Given the description of an element on the screen output the (x, y) to click on. 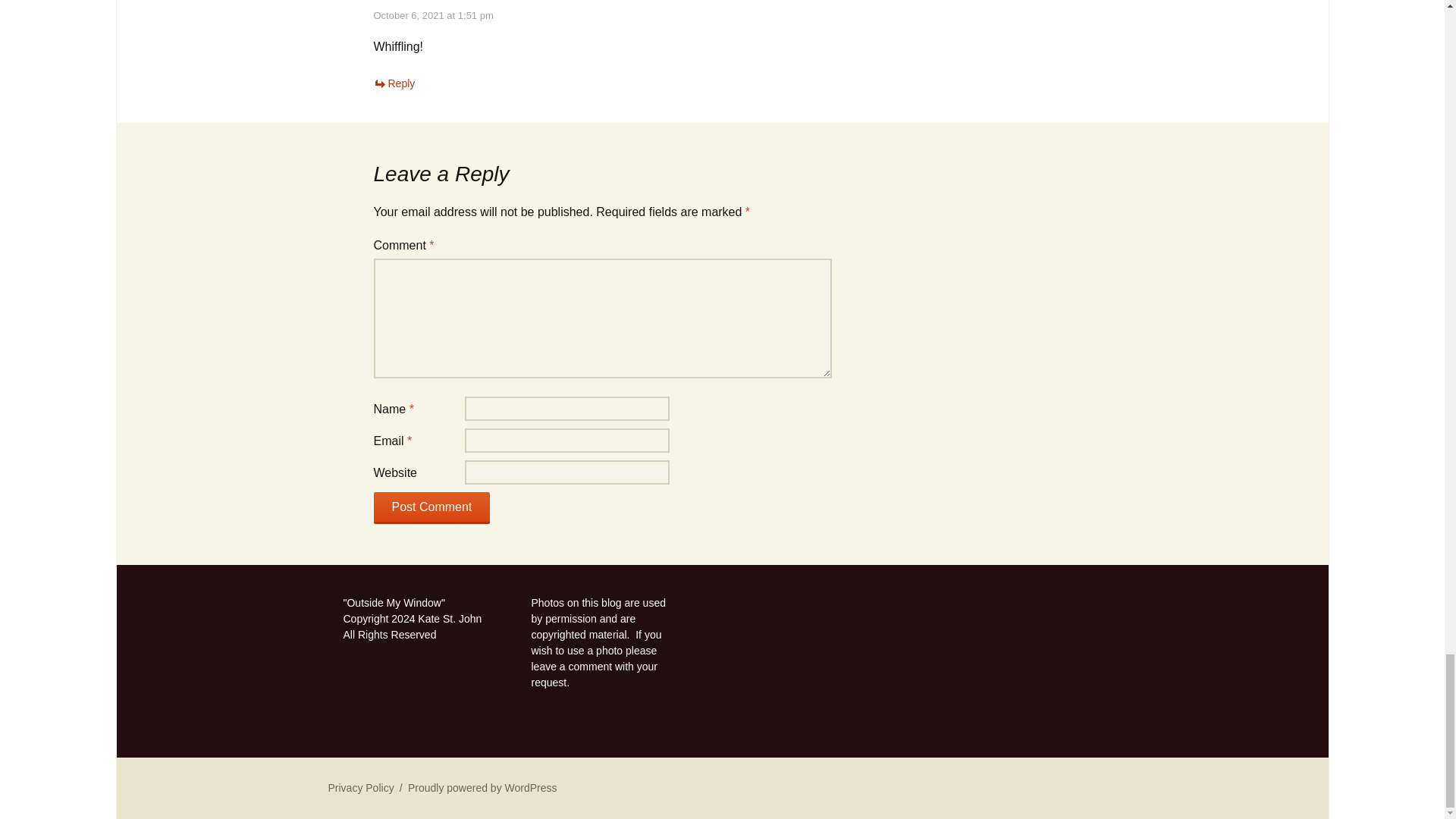
Post Comment (430, 508)
Post Comment (430, 508)
Reply (393, 82)
October 6, 2021 at 1:51 pm (432, 15)
